Given the description of an element on the screen output the (x, y) to click on. 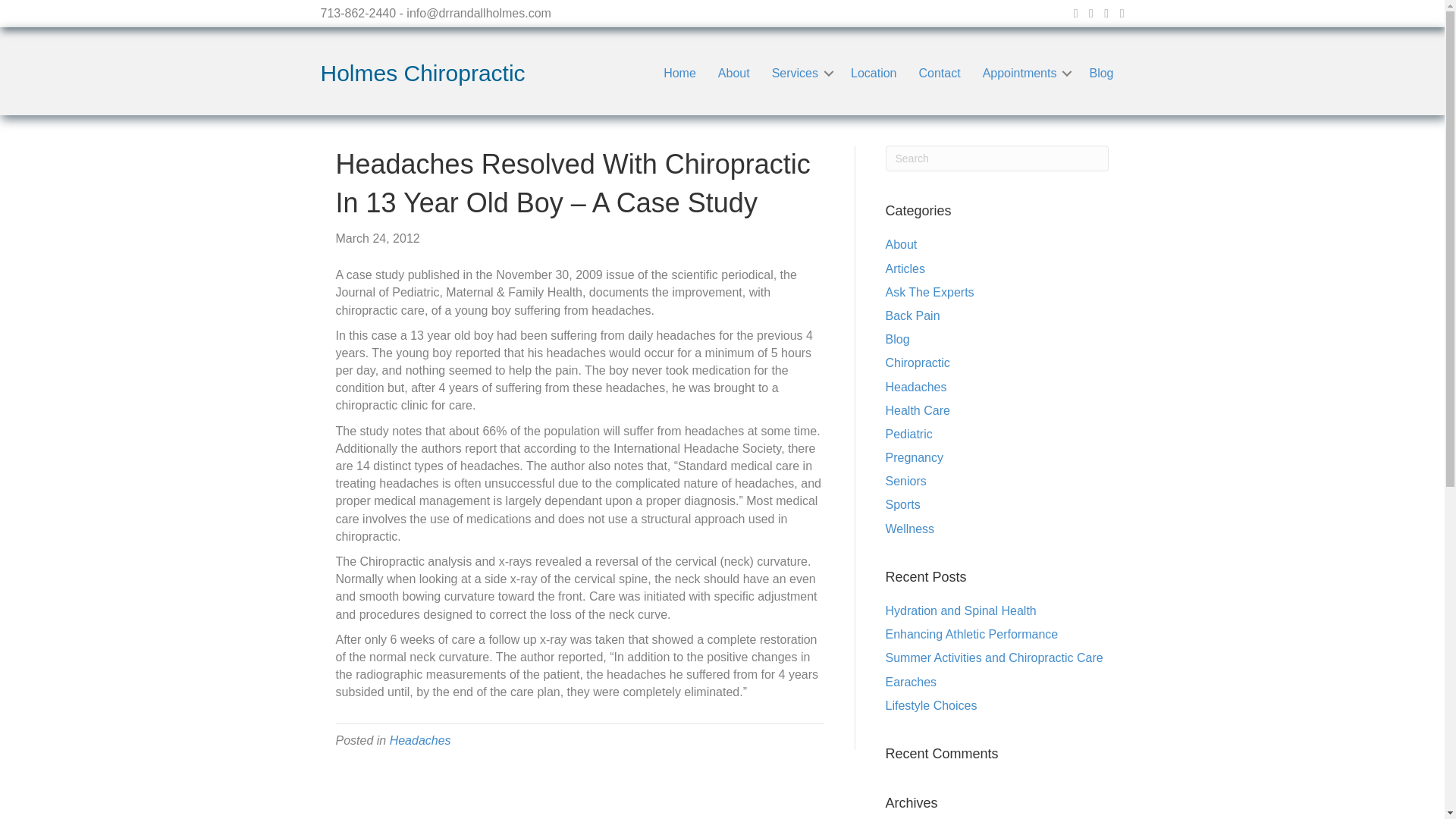
Sports (902, 504)
Pregnancy (914, 457)
Enhancing Athletic Performance (971, 634)
Headaches (916, 386)
Hydration and Spinal Health (960, 610)
About (901, 244)
Health Care (917, 410)
About (733, 73)
Articles (904, 268)
Headaches (420, 739)
Summer Activities and Chiropractic Care (994, 657)
Wellness (909, 528)
Ask The Experts (929, 291)
Home (679, 73)
Blog (1101, 73)
